Given the description of an element on the screen output the (x, y) to click on. 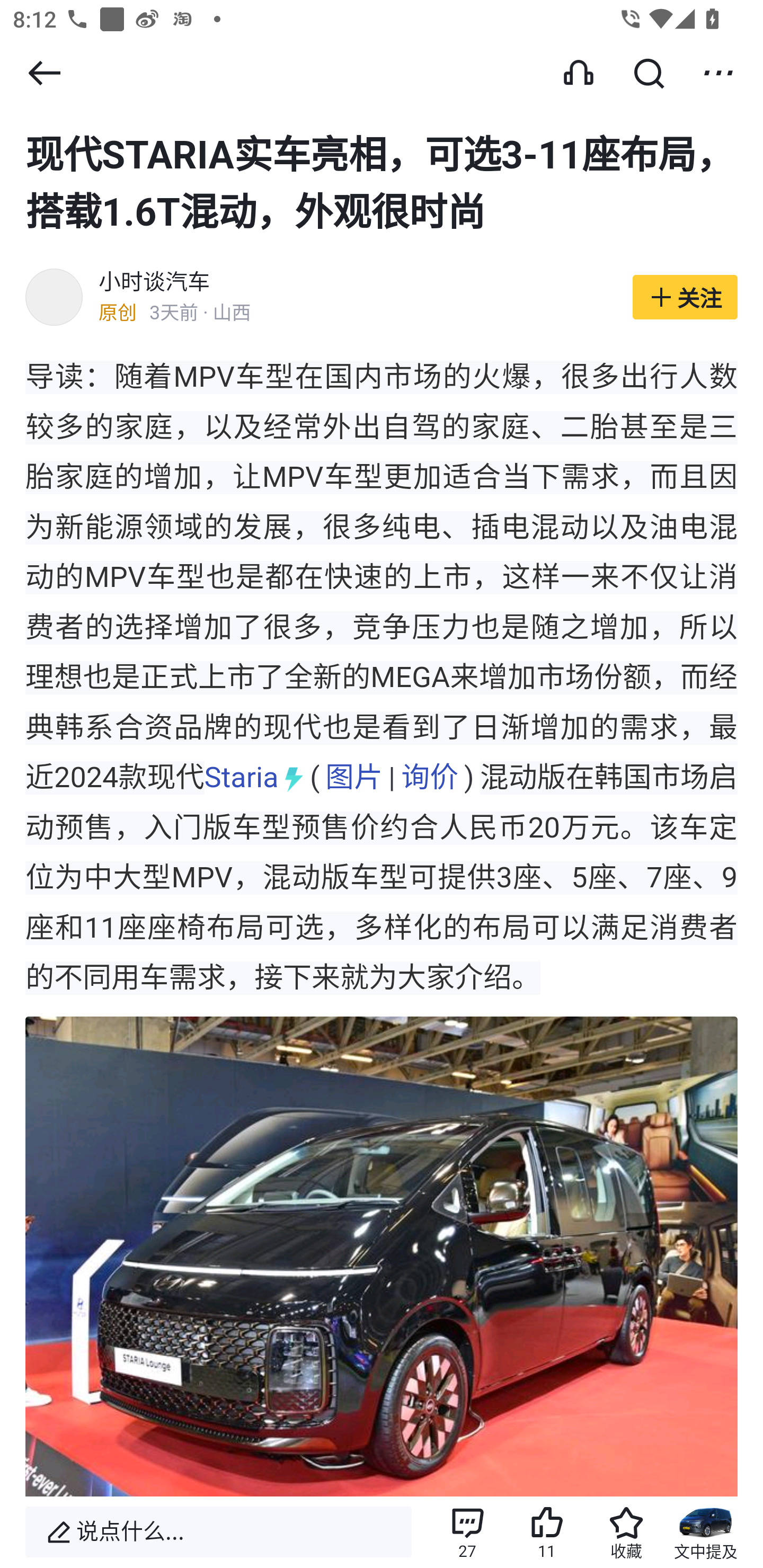
 (44, 72)
 (648, 72)
 (718, 72)
小时谈汽车 (154, 283)
关注 (684, 297)
原创3天前 · 山西 原创 3天前  · 山西 (355, 314)
Staria (241, 778)
ev-icon60 (293, 778)
图片 (353, 778)
询价 (429, 778)
 27 (467, 1531)
11 (546, 1531)
收藏 (625, 1531)
文中提及 (705, 1531)
 说点什么... (218, 1531)
